Given the description of an element on the screen output the (x, y) to click on. 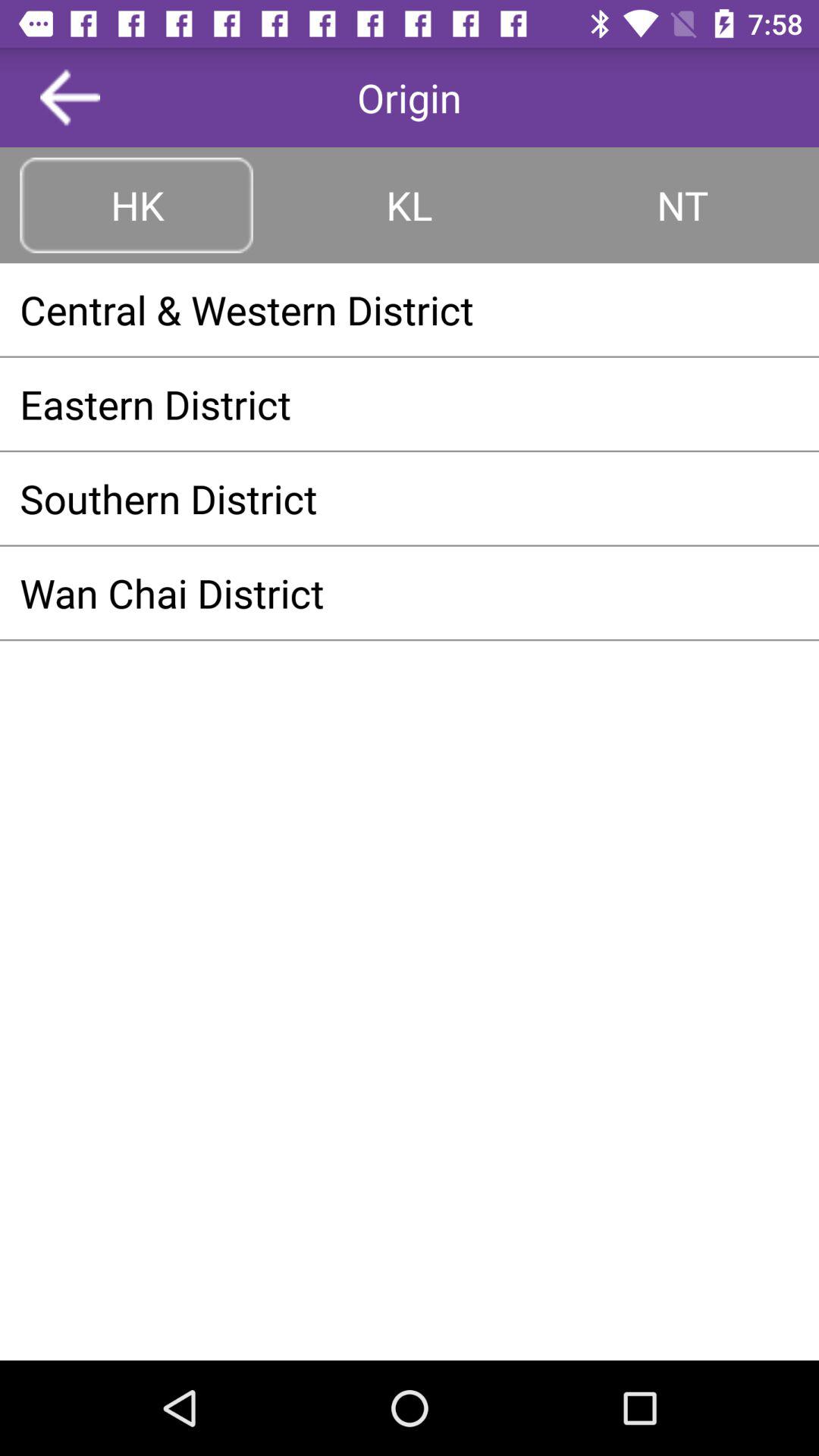
click the icon below hk item (409, 309)
